Given the description of an element on the screen output the (x, y) to click on. 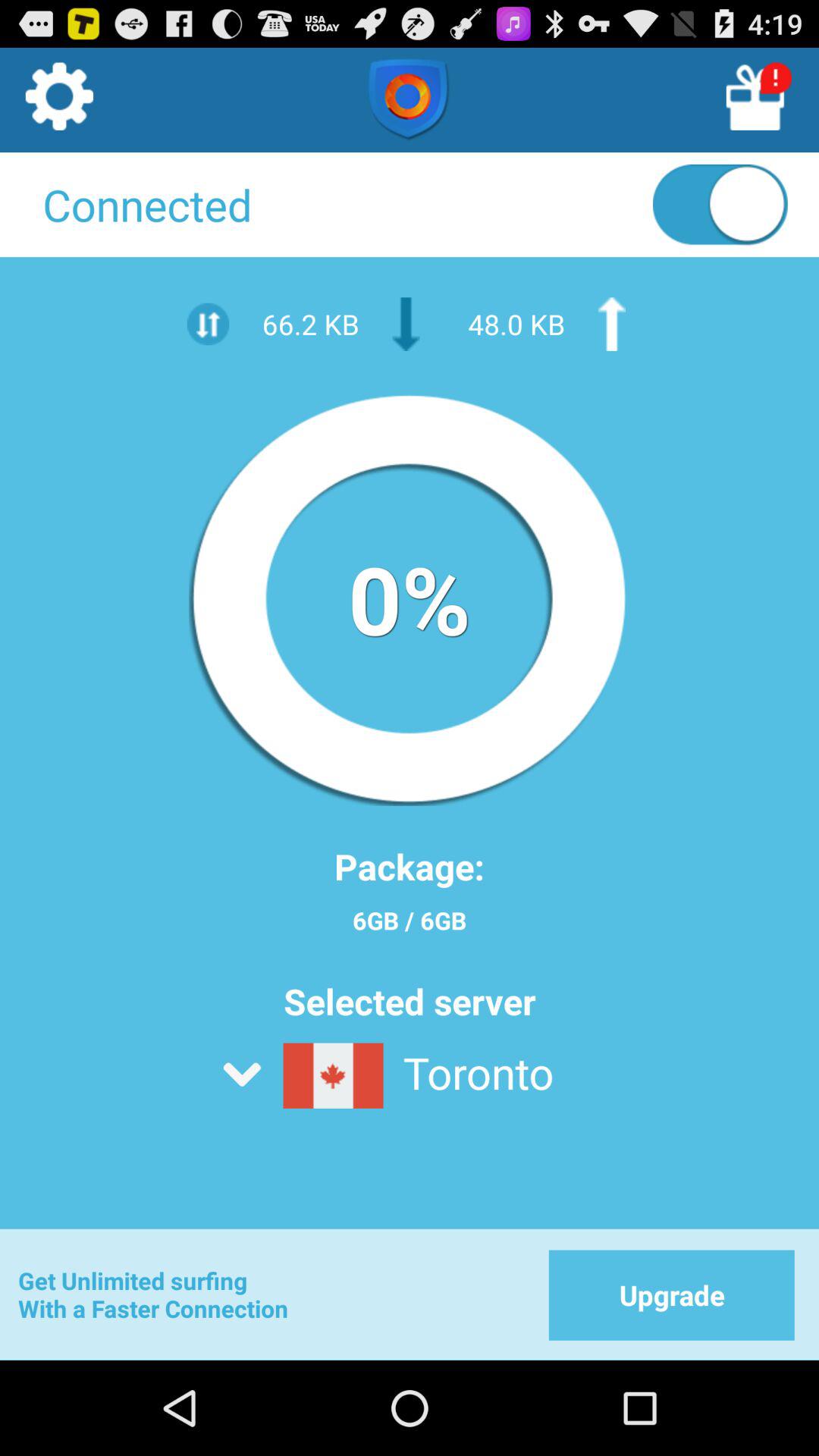
open the server list (446, 1115)
